Given the description of an element on the screen output the (x, y) to click on. 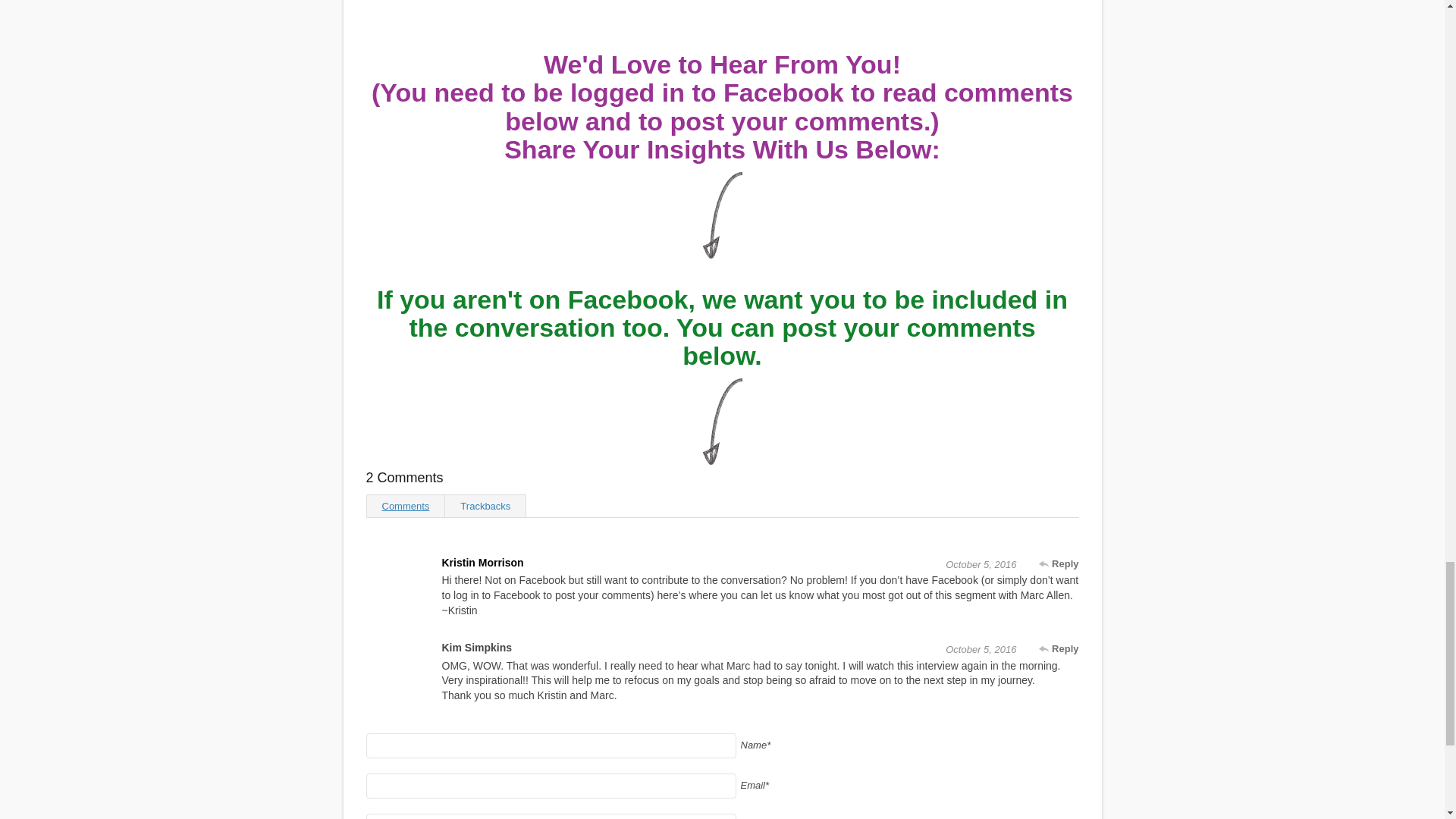
Trackbacks (485, 505)
Kristin Morrison (481, 562)
Comments (405, 505)
Reply (1058, 648)
Reply (1058, 564)
